Given the description of an element on the screen output the (x, y) to click on. 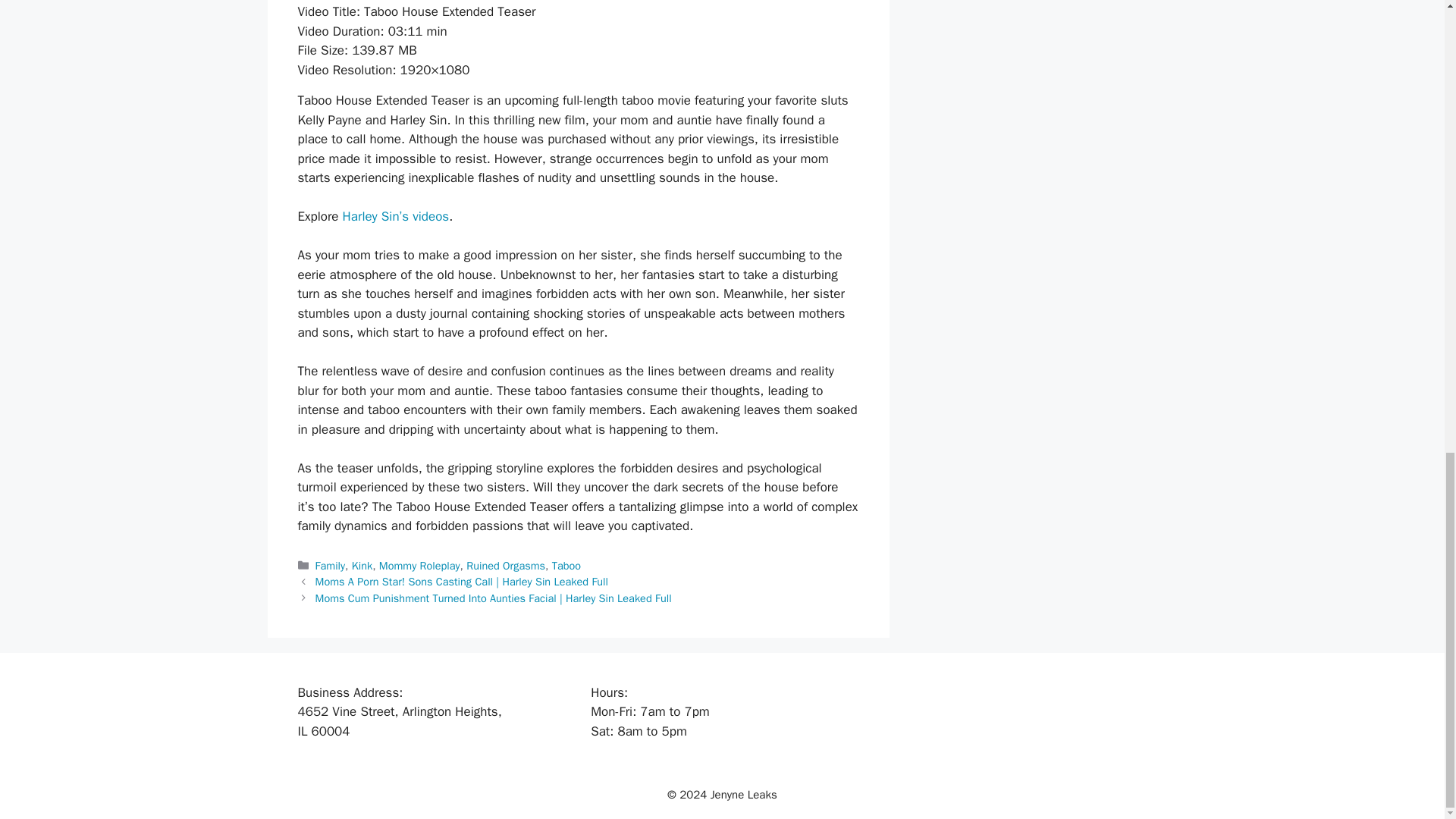
Taboo (565, 565)
Family (330, 565)
Mommy Roleplay (419, 565)
Ruined Orgasms (504, 565)
Kink (362, 565)
